Given the description of an element on the screen output the (x, y) to click on. 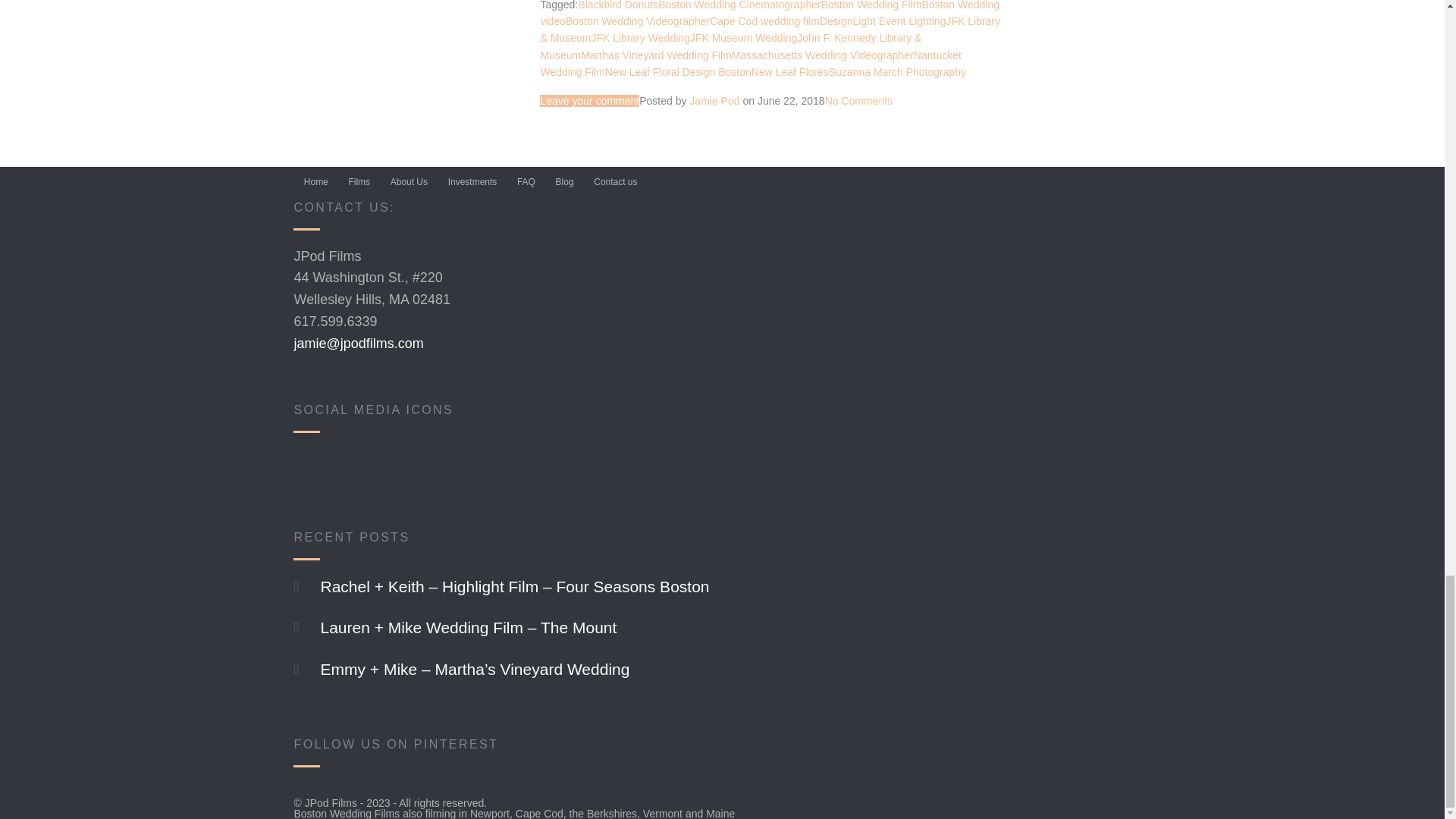
Visit Us On Youtube (348, 465)
View all posts by Jamie Pod (713, 101)
Visit Us On Facebook (312, 465)
About Us (409, 182)
Visit Us On Twitter (421, 465)
Visit Us On Instagram (457, 465)
Visit Us On Linkedin (384, 465)
